Given the description of an element on the screen output the (x, y) to click on. 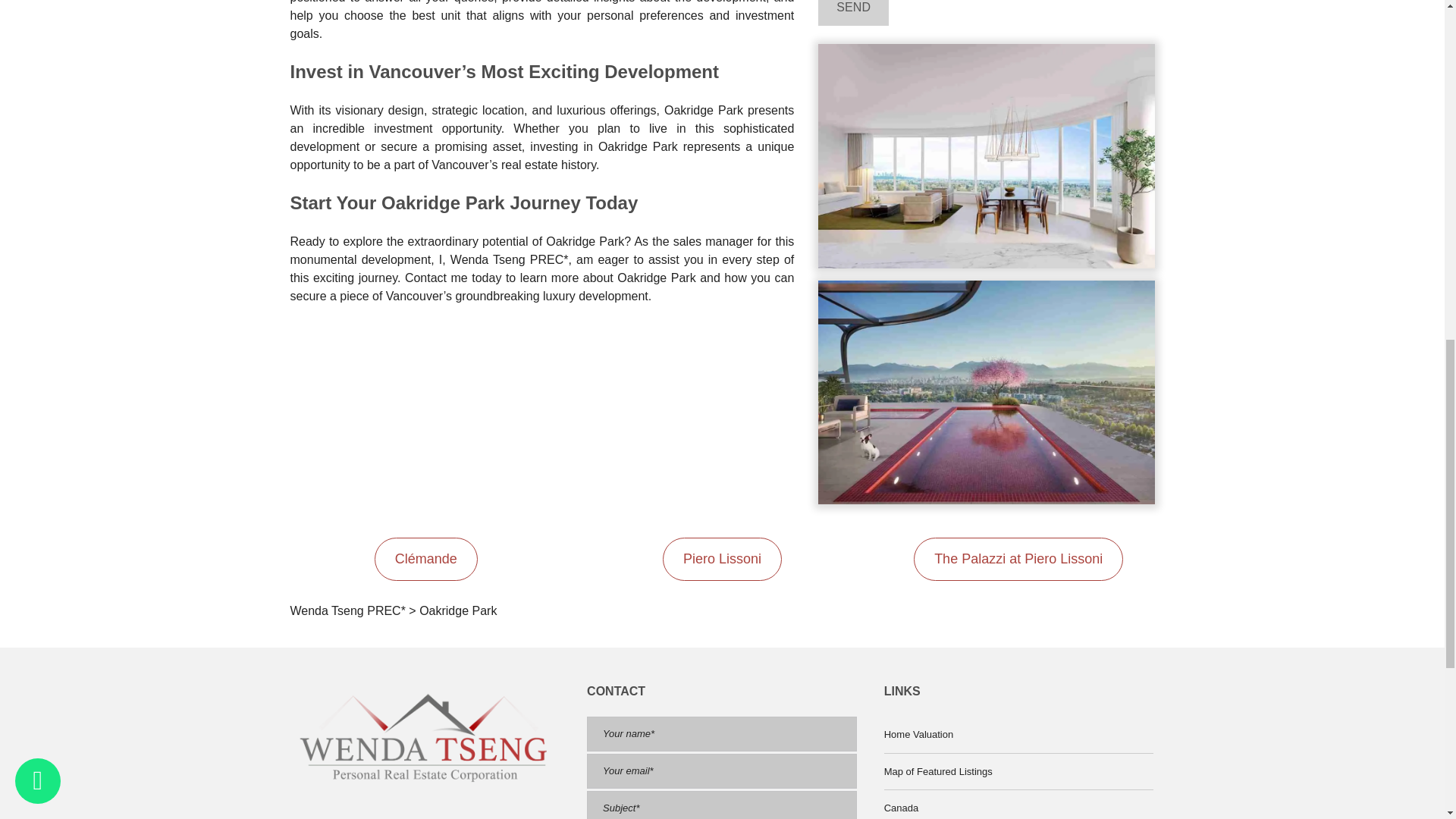
Piero Lissoni (721, 558)
Send (853, 12)
The Palazzi at Piero Lissoni (1018, 558)
Send (853, 12)
